Given the description of an element on the screen output the (x, y) to click on. 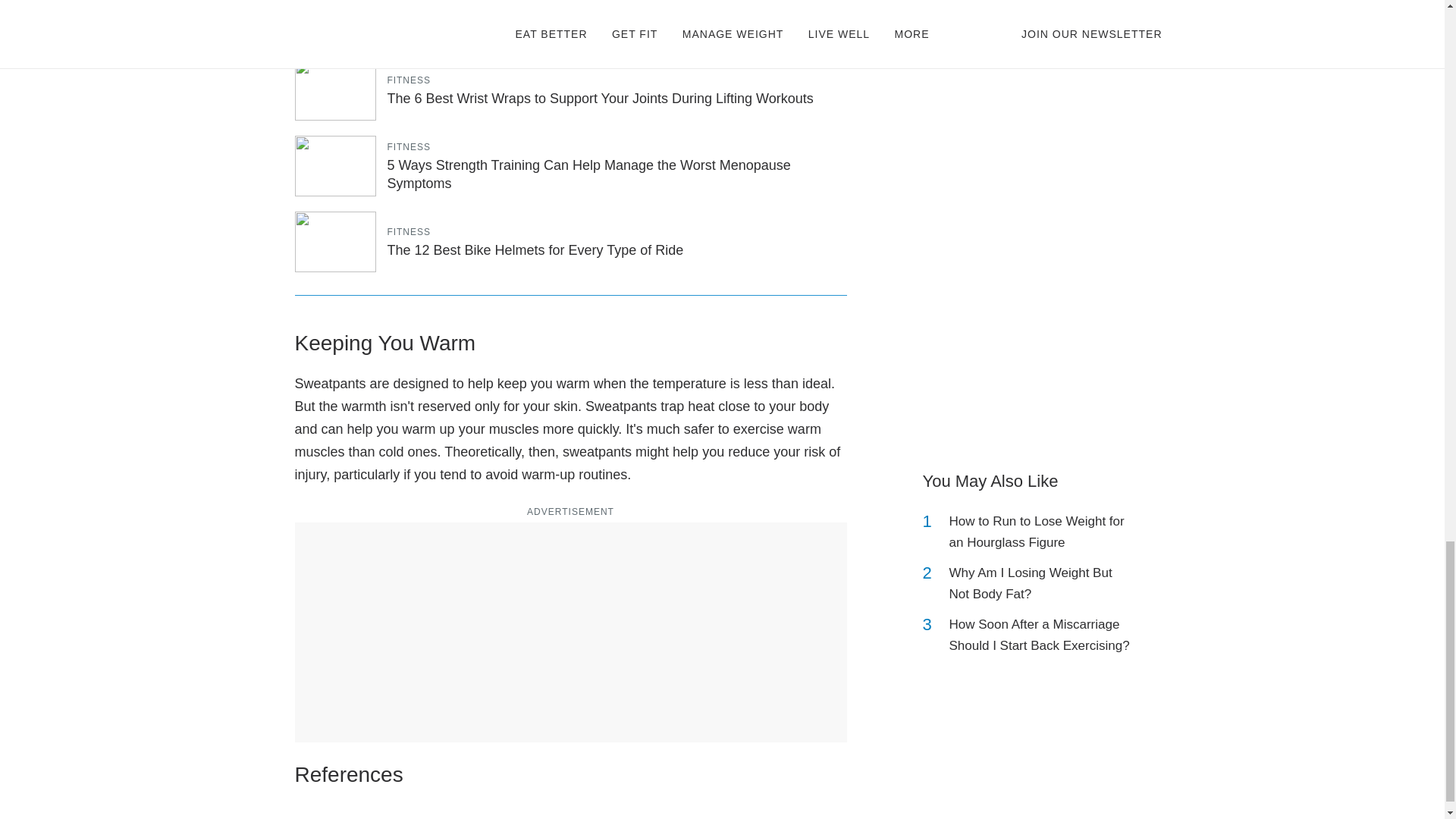
Why Am I Losing Weight But Not Body Fat? (1042, 583)
The 12 Best Bike Helmets for Every Type of Ride (534, 249)
How to Run to Lose Weight for an Hourglass Figure (1042, 532)
Why Am I Losing Weight But Not Body Fat? (1042, 583)
How to Run to Lose Weight for an Hourglass Figure (1042, 532)
How Soon After a Miscarriage Should I Start Back Exercising? (1042, 635)
How Soon After a Miscarriage Should I Start Back Exercising? (1042, 635)
